Given the description of an element on the screen output the (x, y) to click on. 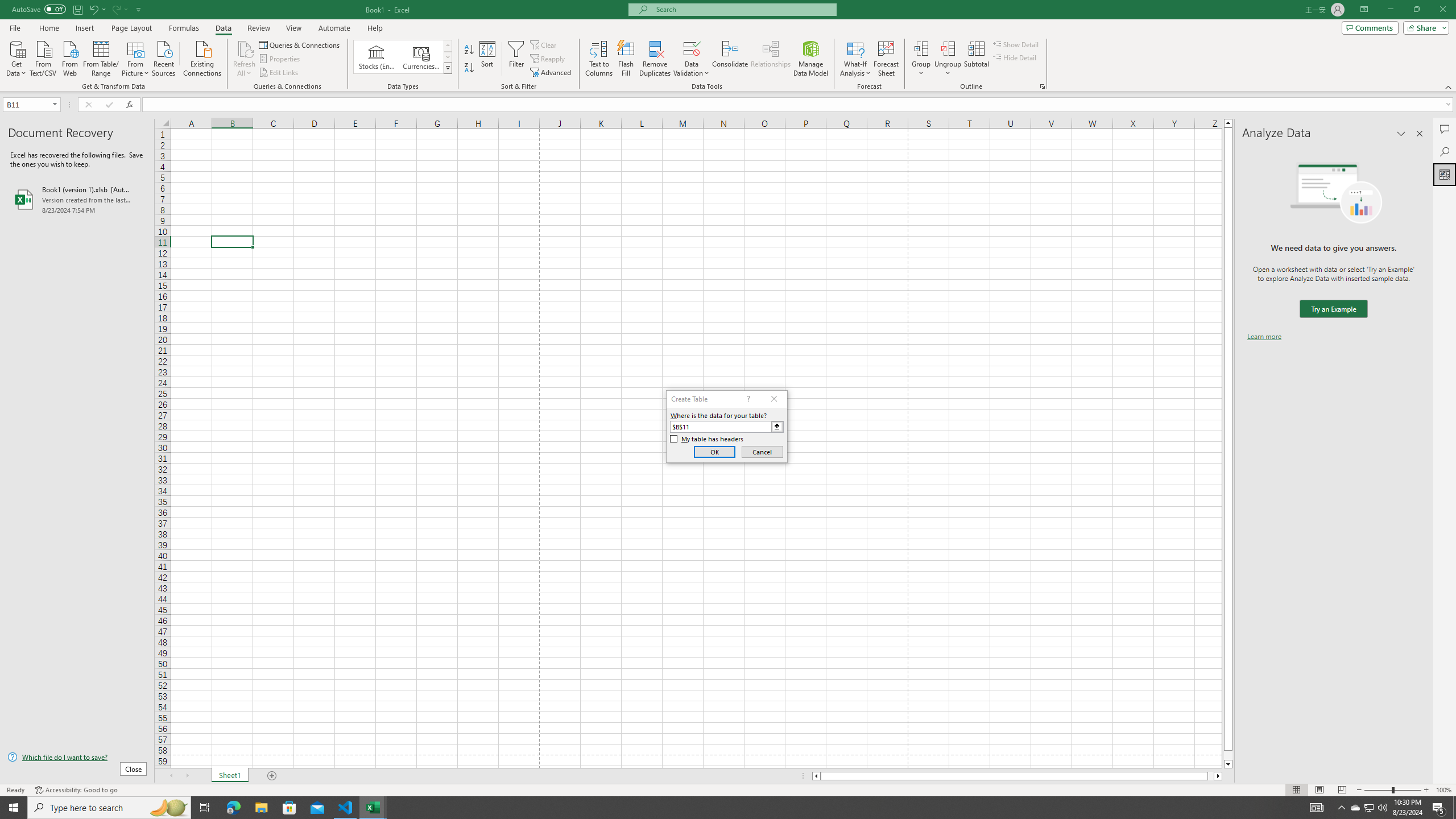
Flash Fill (625, 58)
Advanced... (551, 72)
Sort A to Z (469, 49)
AutomationID: ConvertToLinkedEntity (403, 56)
